Given the description of an element on the screen output the (x, y) to click on. 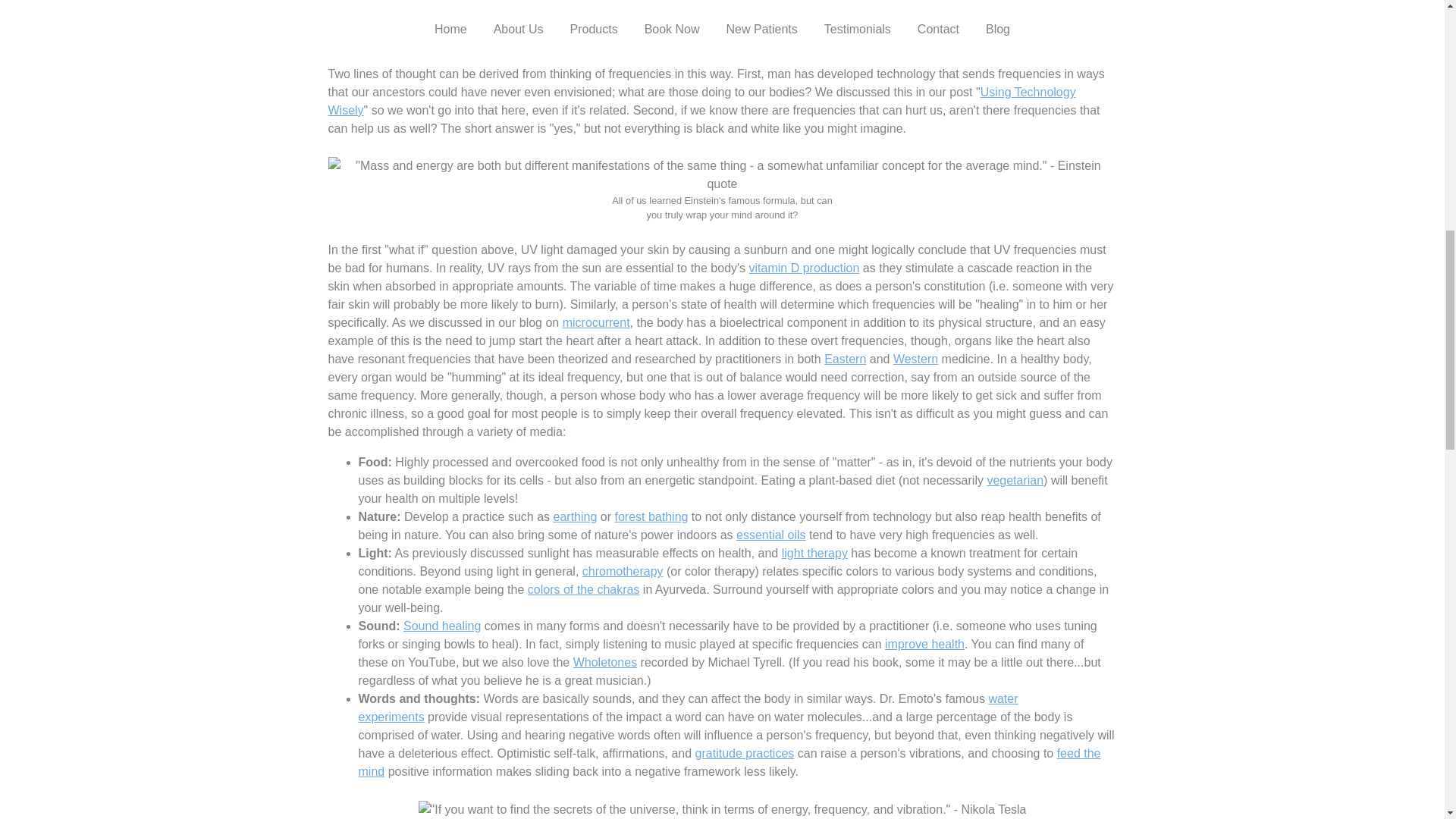
Vegetarianism (1015, 480)
Eastern (845, 358)
essential oils (771, 534)
vegetarian (1015, 480)
light therapy (814, 553)
Using Technology Wisely (701, 101)
Wholetones (605, 662)
Sound healing (441, 625)
All About Grounding (574, 516)
chromotherapy (622, 571)
